Given the description of an element on the screen output the (x, y) to click on. 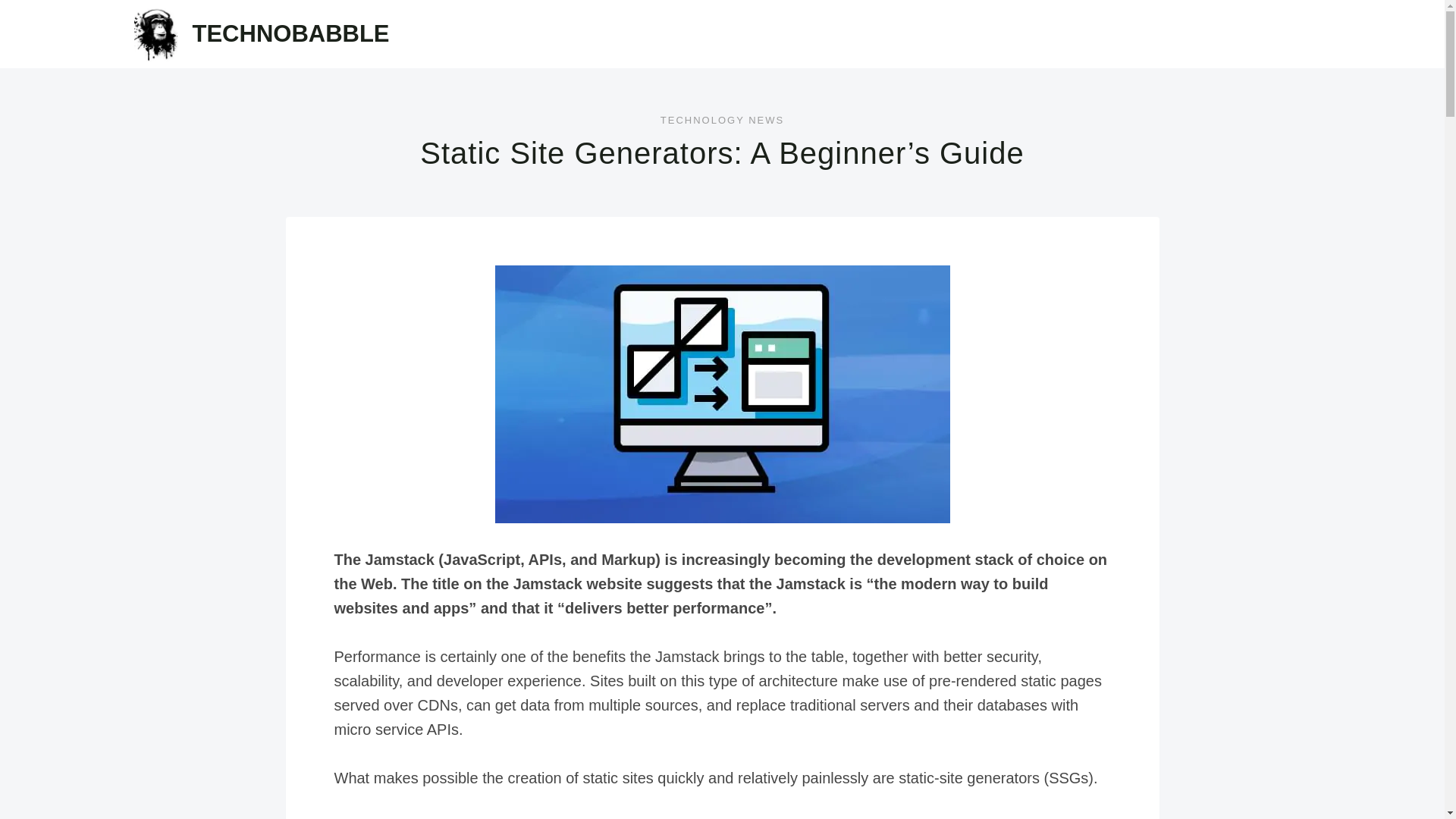
TECHNOBABBLE (260, 33)
TECHNOLOGY NEWS (722, 120)
